Given the description of an element on the screen output the (x, y) to click on. 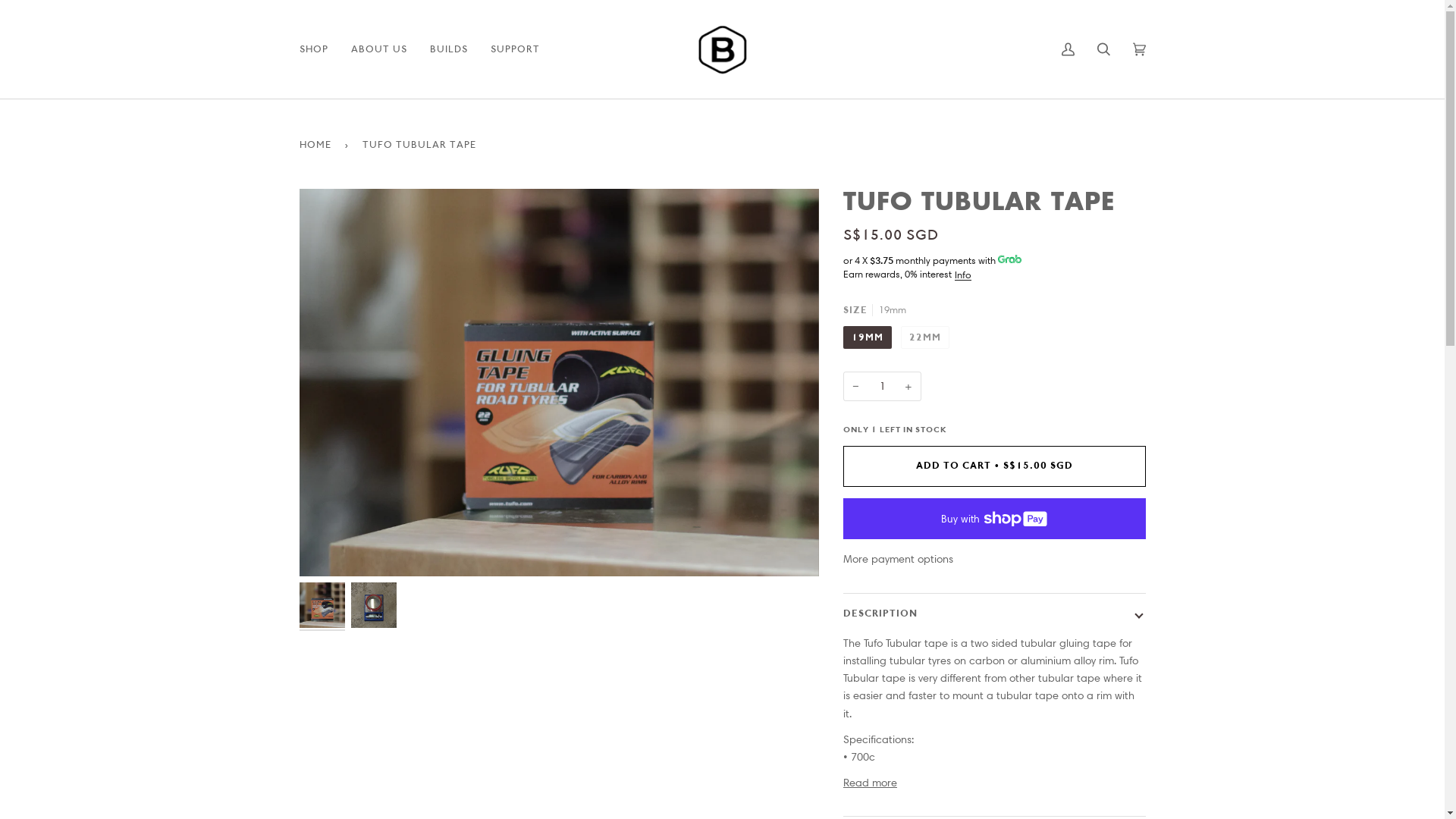
BUILDS Element type: text (448, 49)
SUPPORT Element type: text (515, 49)
SHOP Element type: text (313, 49)
Search Element type: text (1103, 49)
+ Element type: text (908, 386)
HOME Element type: text (316, 143)
My Account Element type: text (1067, 49)
ABOUT US Element type: text (378, 49)
Info Element type: text (962, 274)
Read more Element type: text (870, 782)
Cart Element type: text (1138, 49)
DESCRIPTION Element type: text (994, 613)
More payment options Element type: text (994, 558)
